Given the description of an element on the screen output the (x, y) to click on. 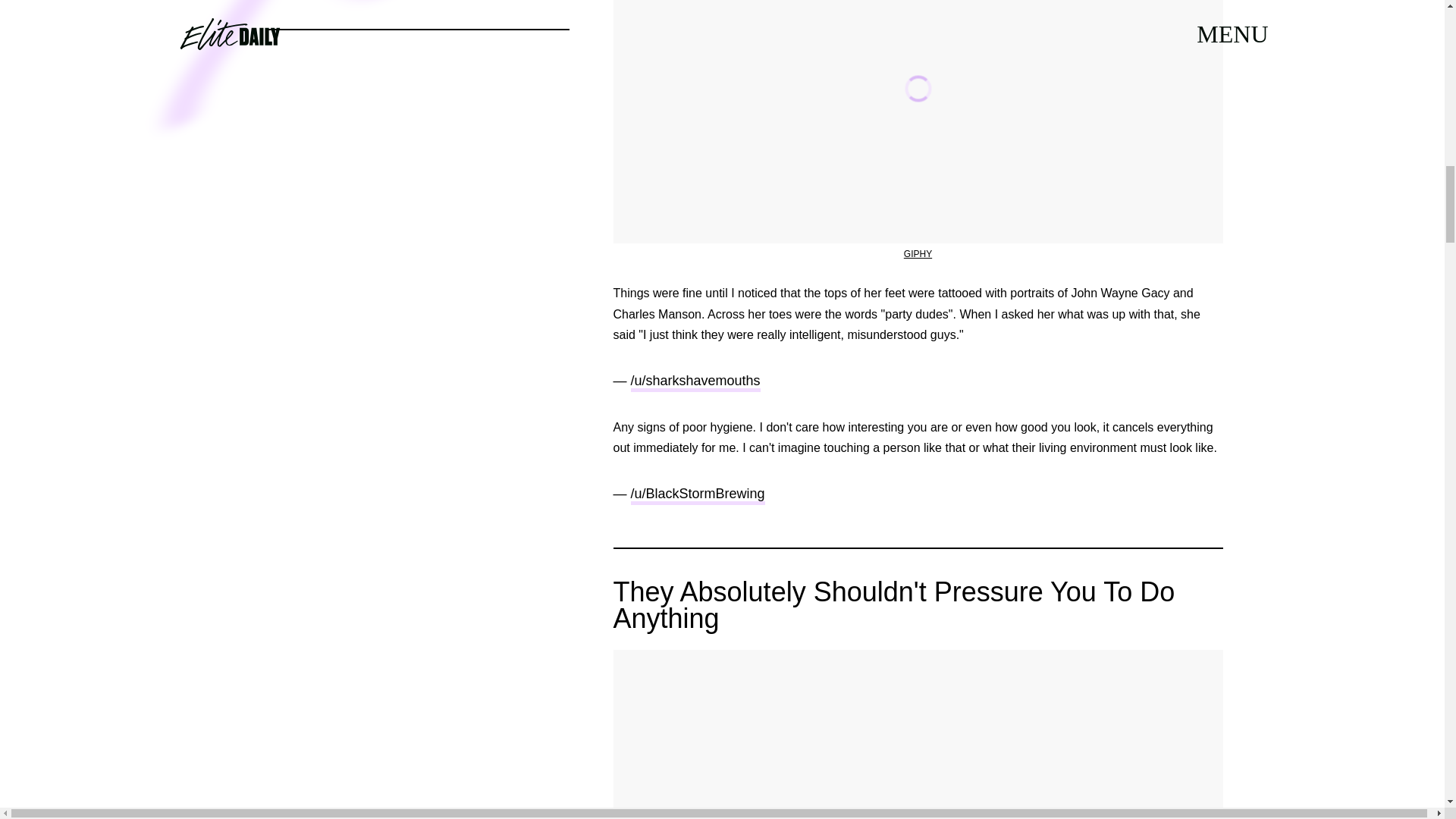
GIPHY (917, 253)
